Given the description of an element on the screen output the (x, y) to click on. 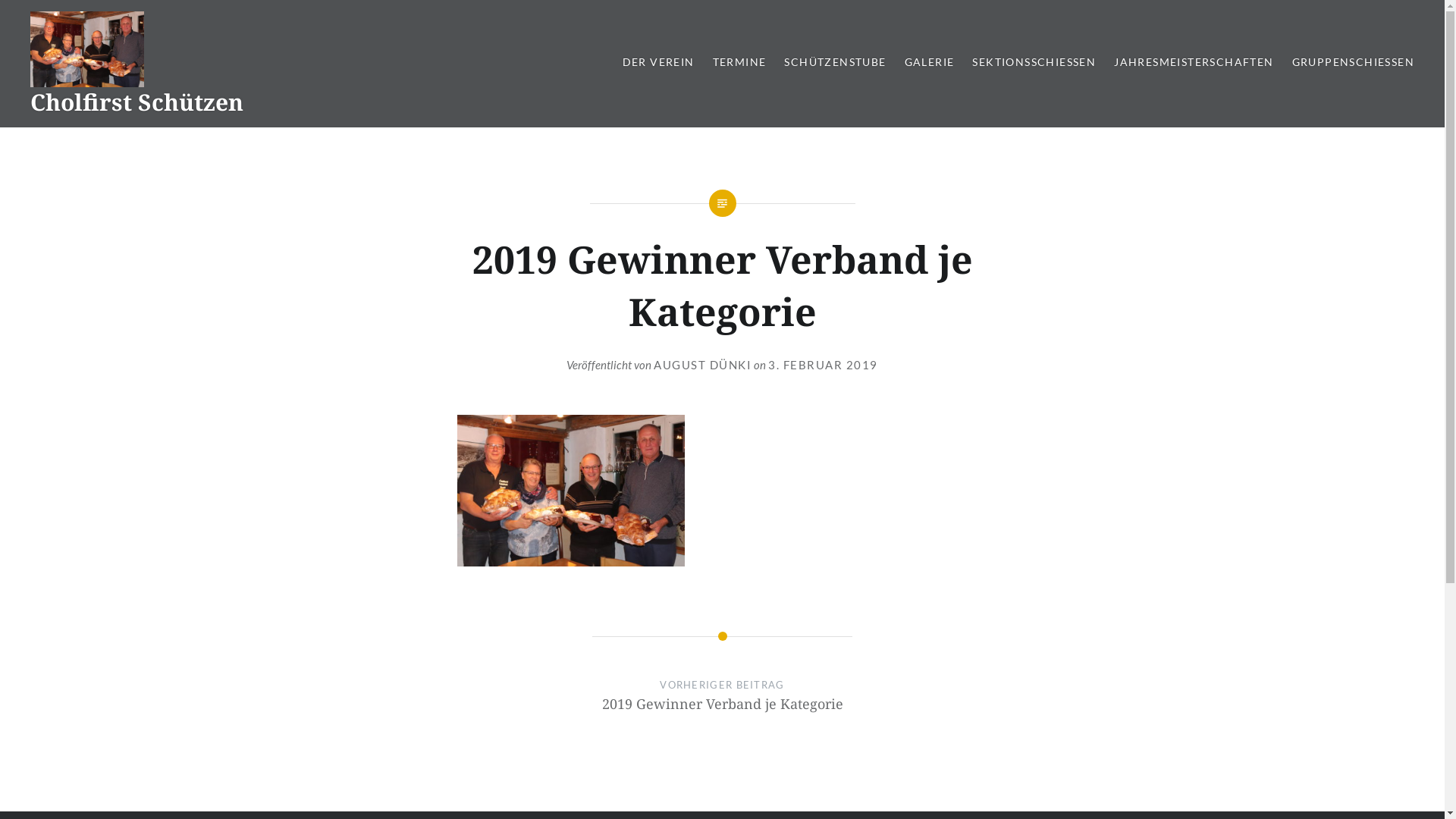
3. FEBRUAR 2019 Element type: text (823, 364)
DER VEREIN Element type: text (658, 62)
GALERIE Element type: text (929, 62)
TERMINE Element type: text (739, 62)
SEKTIONSSCHIESSEN Element type: text (1033, 62)
JAHRESMEISTERSCHAFTEN Element type: text (1193, 62)
Suche Element type: text (190, 19)
VORHERIGER BEITRAG
2019 Gewinner Verband je Kategorie Element type: text (722, 709)
GRUPPENSCHIESSEN Element type: text (1353, 62)
